Given the description of an element on the screen output the (x, y) to click on. 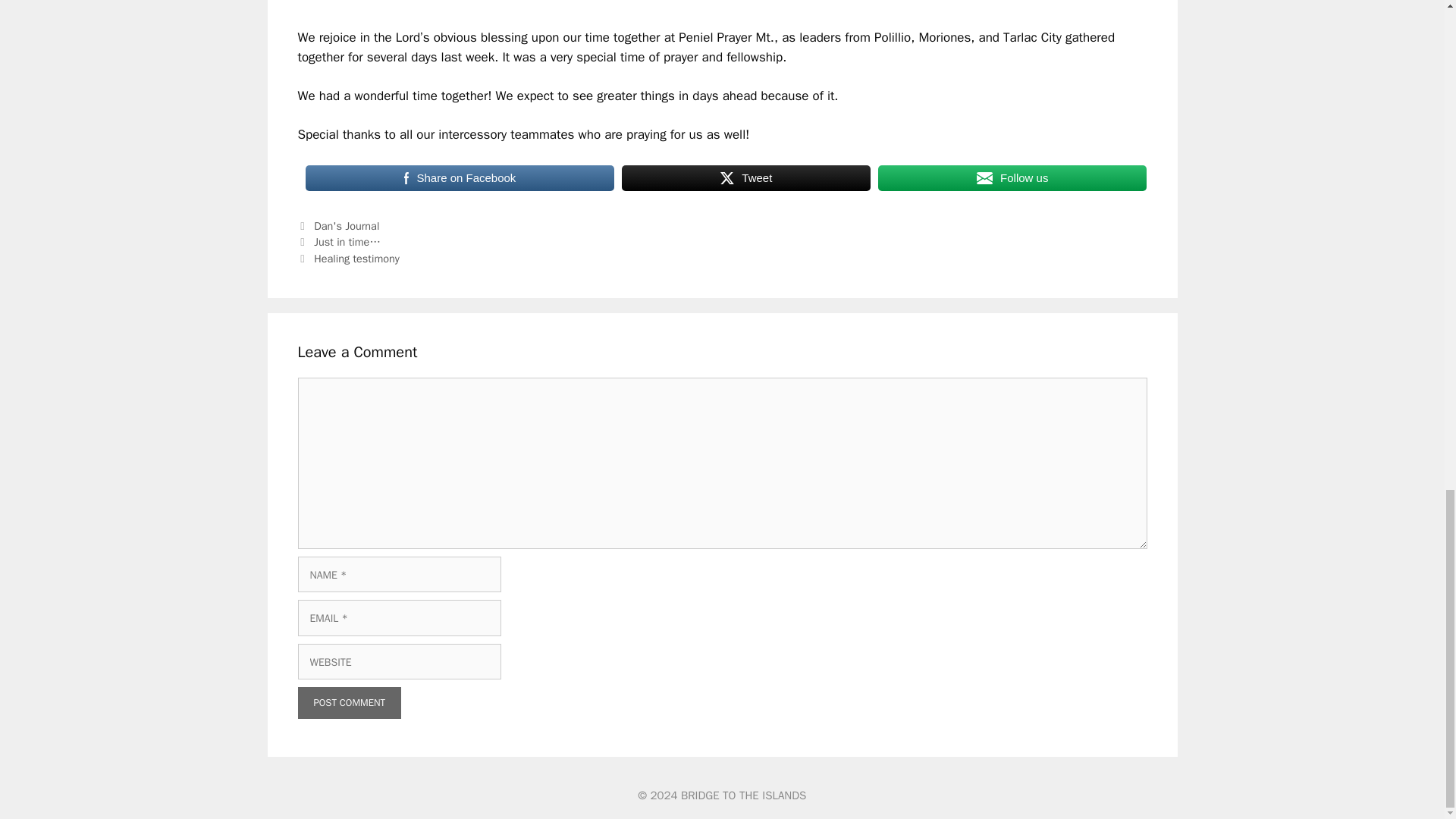
Healing testimony (356, 258)
Follow us (1012, 177)
Post Comment (349, 703)
Previous (338, 241)
Share on Facebook (459, 177)
Dan's Journal (346, 225)
Next (347, 258)
Tweet (745, 177)
Post Comment (349, 703)
